Given the description of an element on the screen output the (x, y) to click on. 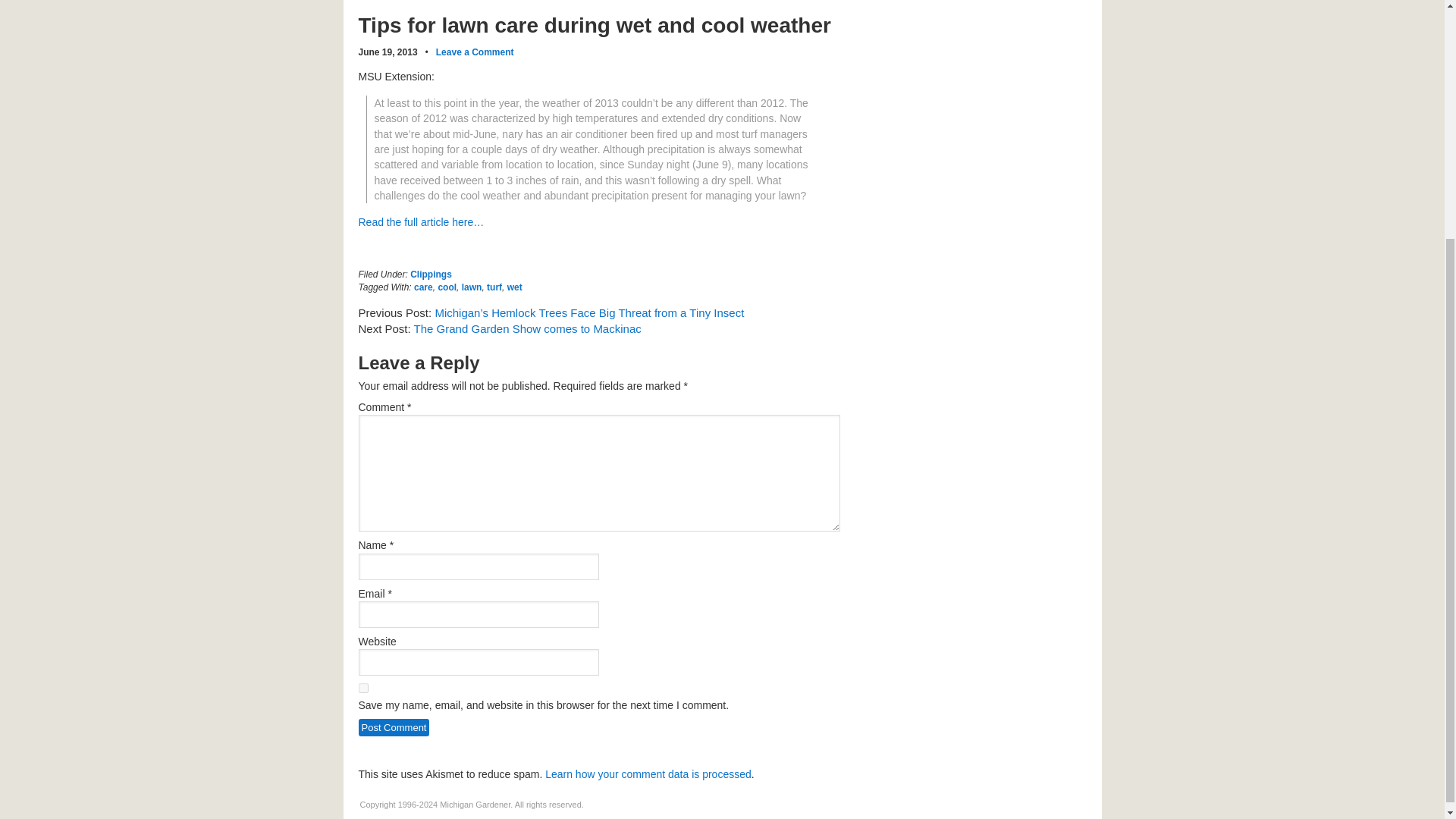
turf (494, 286)
lawn (471, 286)
care (422, 286)
Post Comment (393, 727)
Clippings (430, 274)
cool (447, 286)
yes (363, 687)
Leave a Comment (474, 51)
